Given the description of an element on the screen output the (x, y) to click on. 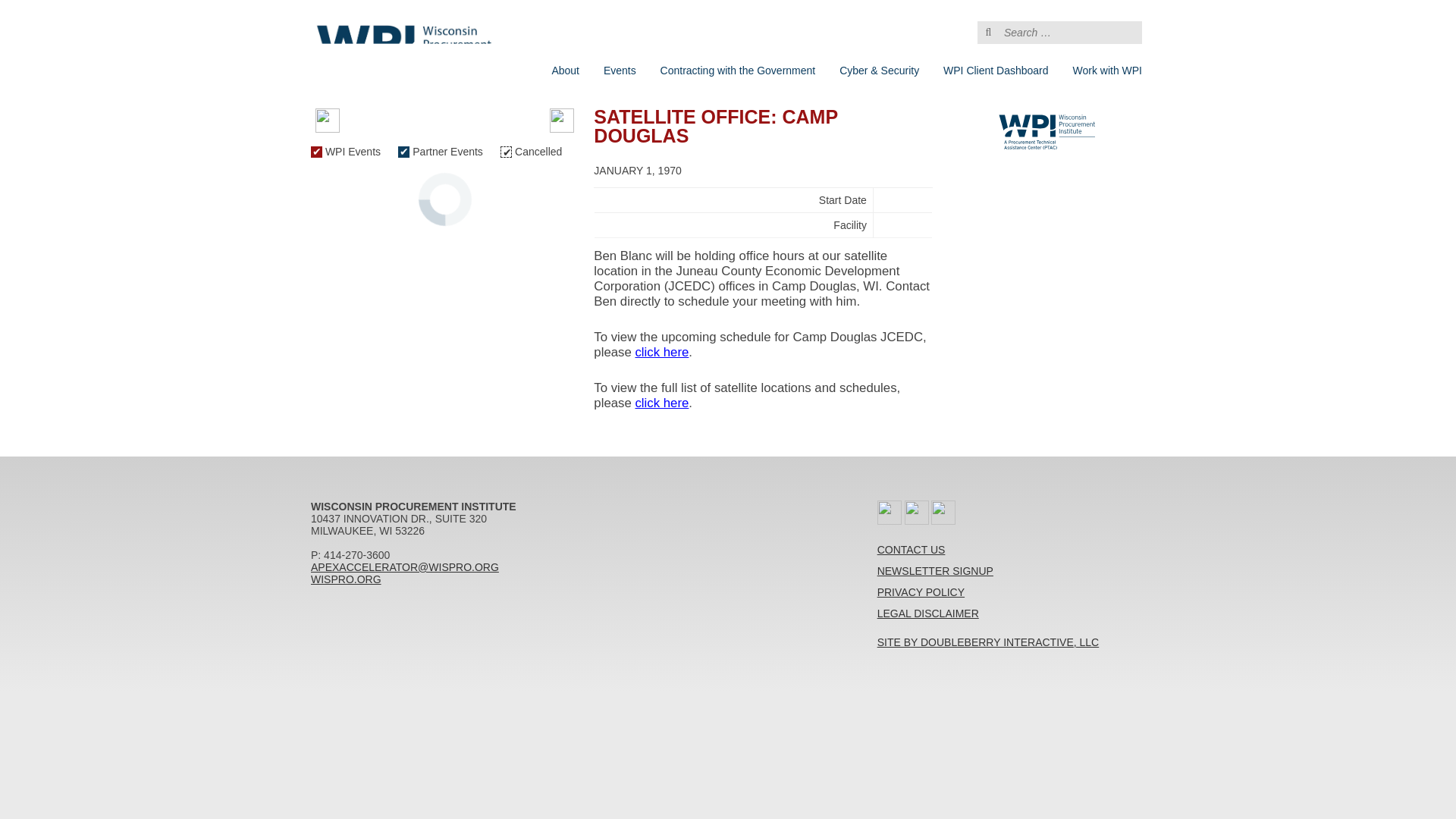
Contracting with the Government (738, 70)
click here (661, 402)
NEWSLETTER SIGNUP (934, 571)
WISPRO.ORG (346, 579)
About (564, 70)
click here (661, 351)
CONTACT US (910, 549)
WPI Client Dashboard (996, 70)
Work with WPI (1107, 70)
Search (43, 16)
Events (619, 70)
